Given the description of an element on the screen output the (x, y) to click on. 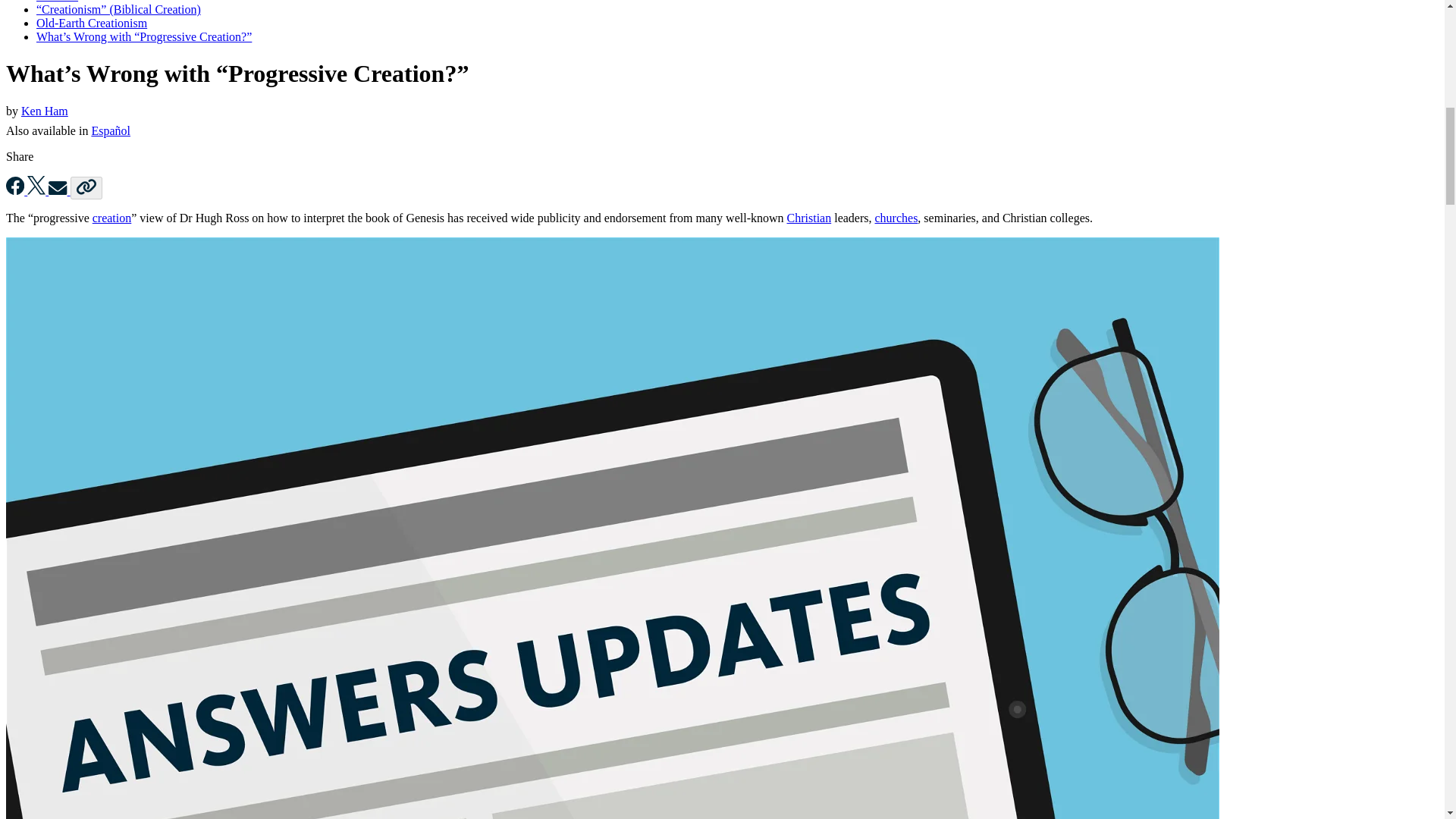
Creation (57, 1)
Ken Ham (44, 110)
Christian (809, 217)
creation (112, 217)
churches (896, 217)
Old-Earth Creationism (91, 22)
